Given the description of an element on the screen output the (x, y) to click on. 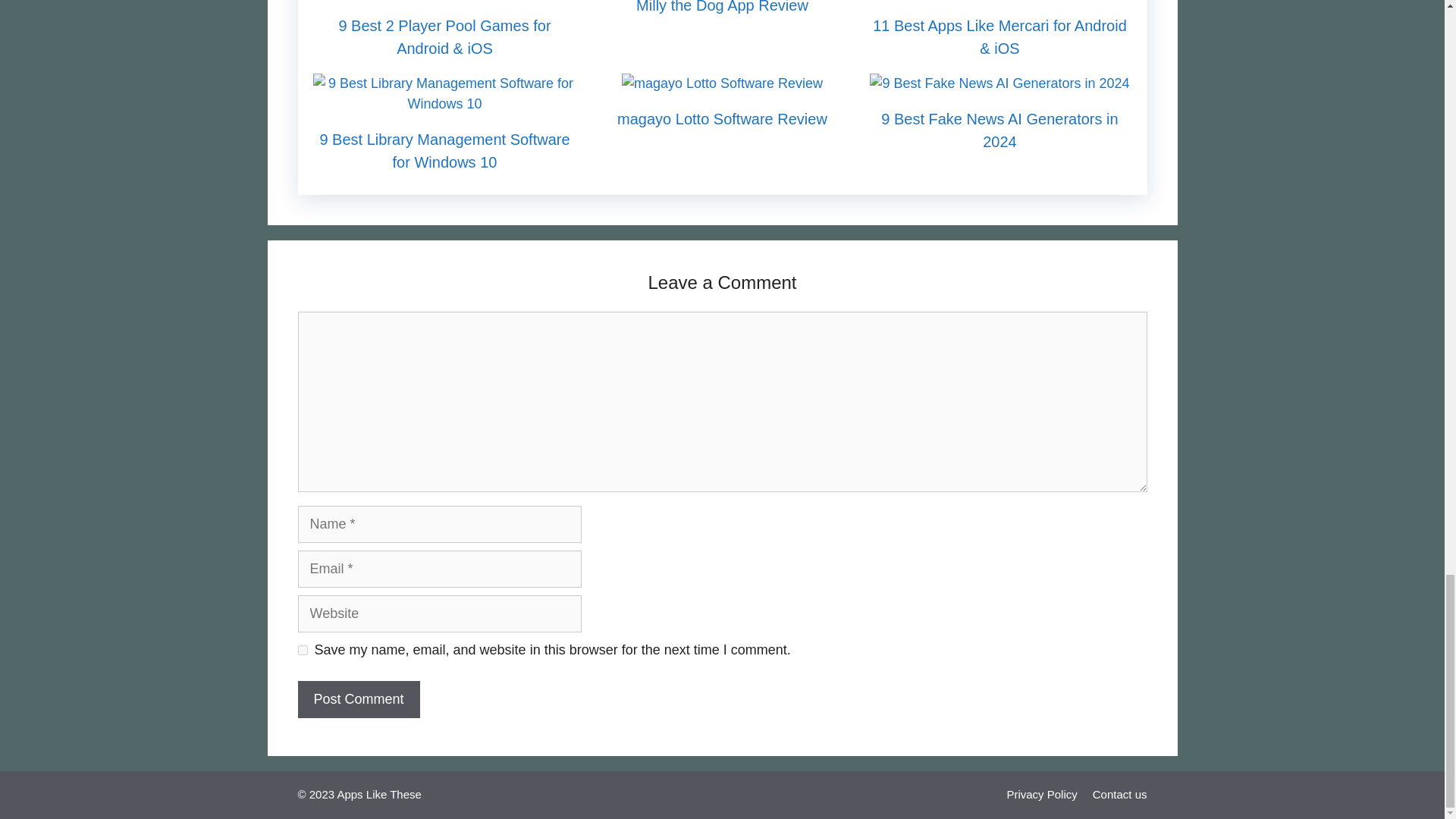
9 Best Fake News AI Generators in 2024 (999, 83)
magayo Lotto Software Review (722, 118)
9 Best Fake News AI Generators in 2024 (999, 129)
Post Comment (358, 699)
Contact us (1120, 793)
9 Best Library Management Software for Windows 10 (444, 103)
yes (302, 650)
magayo Lotto Software Review (721, 83)
Milly the Dog App Review (722, 6)
Post Comment (358, 699)
9 Best Library Management Software for Windows 10 (443, 150)
Privacy Policy (1041, 793)
